Given the description of an element on the screen output the (x, y) to click on. 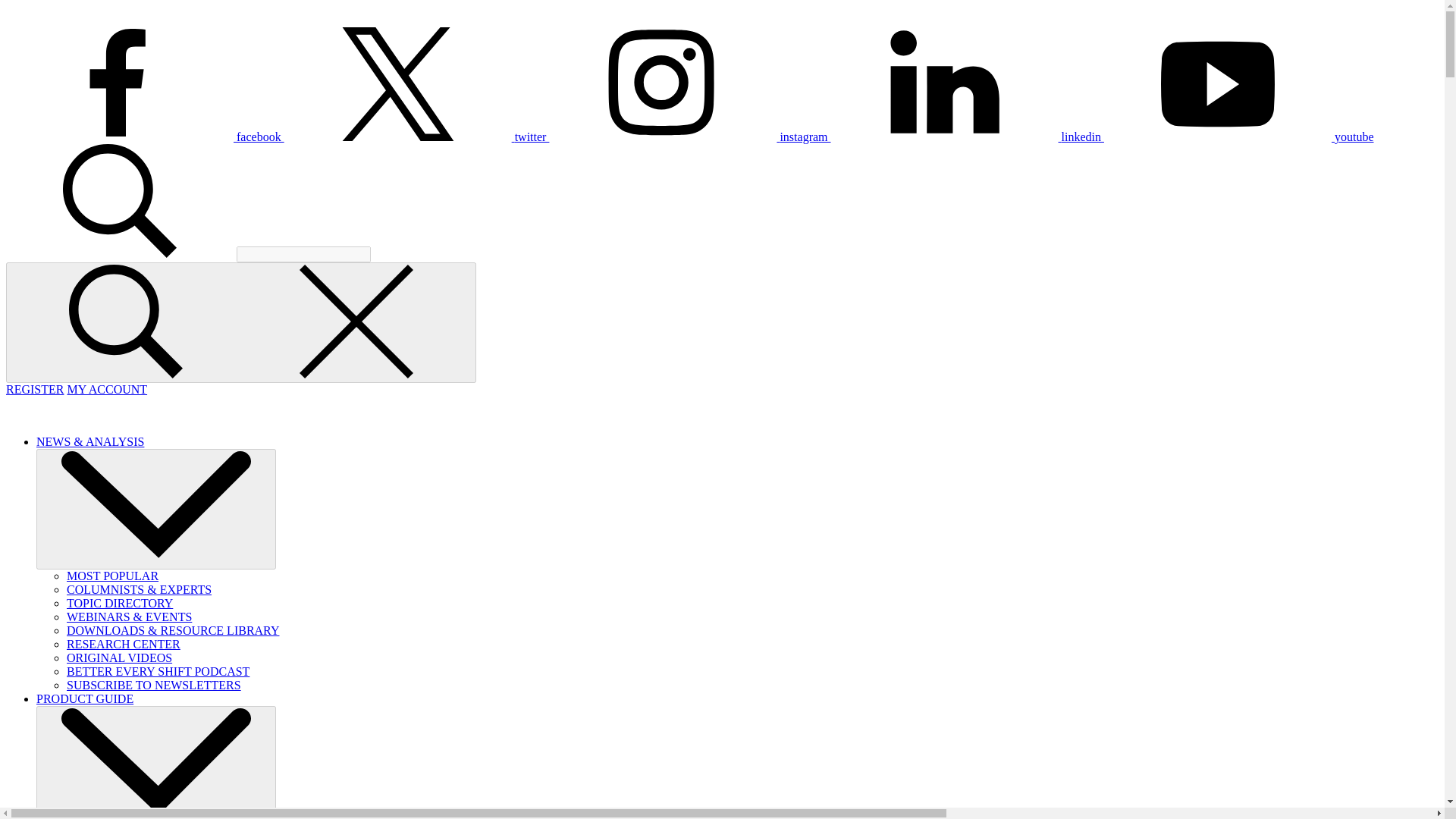
MOST POPULAR (112, 575)
BETTER EVERY SHIFT PODCAST (157, 671)
twitter (416, 136)
instagram (688, 136)
SUBSCRIBE TO NEWSLETTERS (153, 684)
facebook (144, 136)
REGISTER (34, 389)
youtube (1238, 136)
RESEARCH CENTER (123, 644)
ORIGINAL VIDEOS (118, 657)
PRODUCT GUIDE (84, 698)
MY ACCOUNT (106, 389)
linkedin (967, 136)
TOPIC DIRECTORY (119, 603)
